Given the description of an element on the screen output the (x, y) to click on. 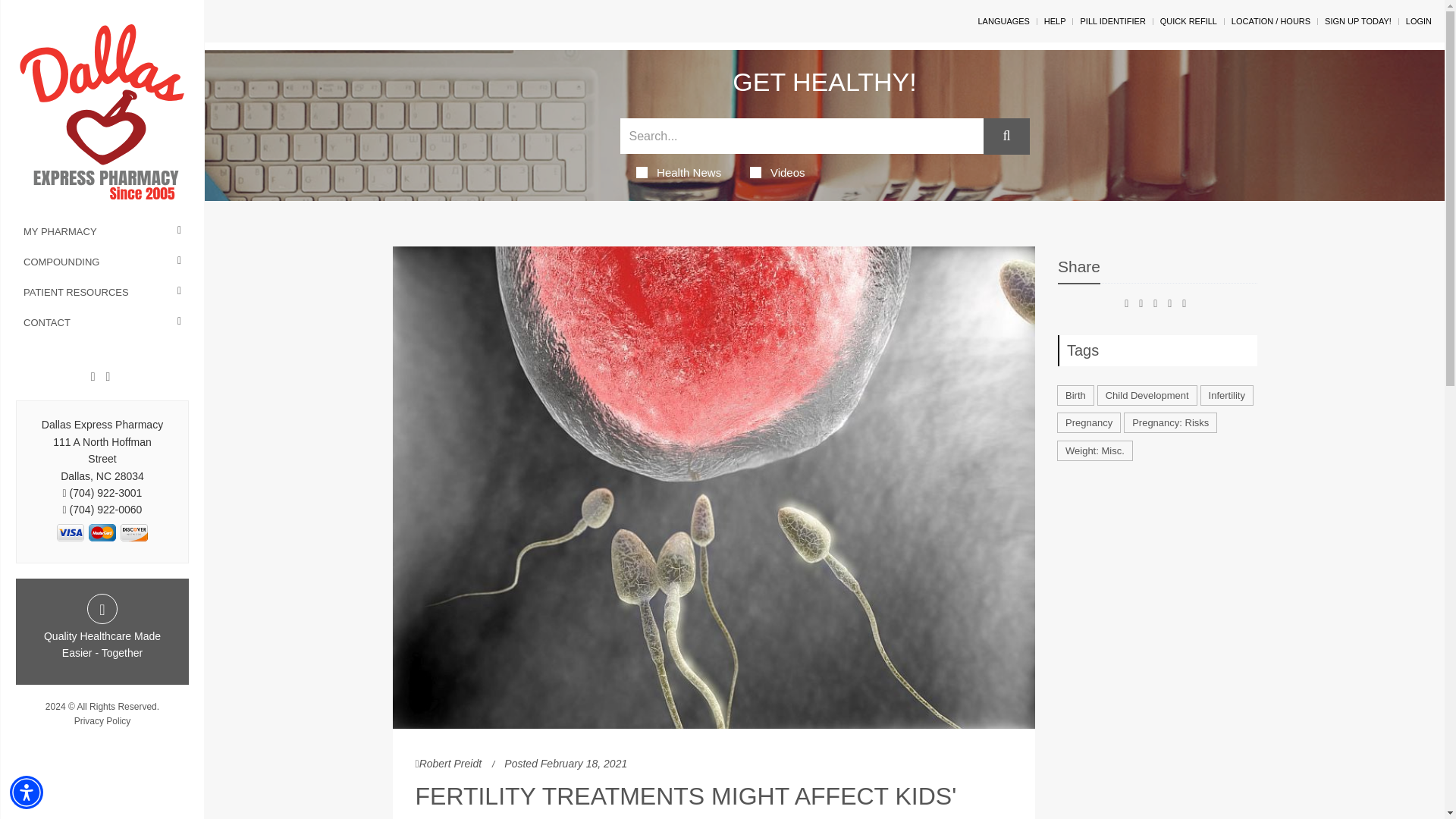
PILL IDENTIFIER (1112, 20)
LANGUAGES (1002, 20)
1 (101, 532)
MY PHARMACY (102, 232)
COMPOUNDING (102, 262)
PATIENT RESOURCES (102, 292)
Accessibility Menu (26, 792)
0 (70, 532)
HELP (1054, 20)
QUICK REFILL (1188, 20)
SIGN UP TODAY! (1357, 20)
Privacy Policy (102, 720)
2 (133, 532)
Birth (1075, 394)
LOGIN (1418, 20)
